Given the description of an element on the screen output the (x, y) to click on. 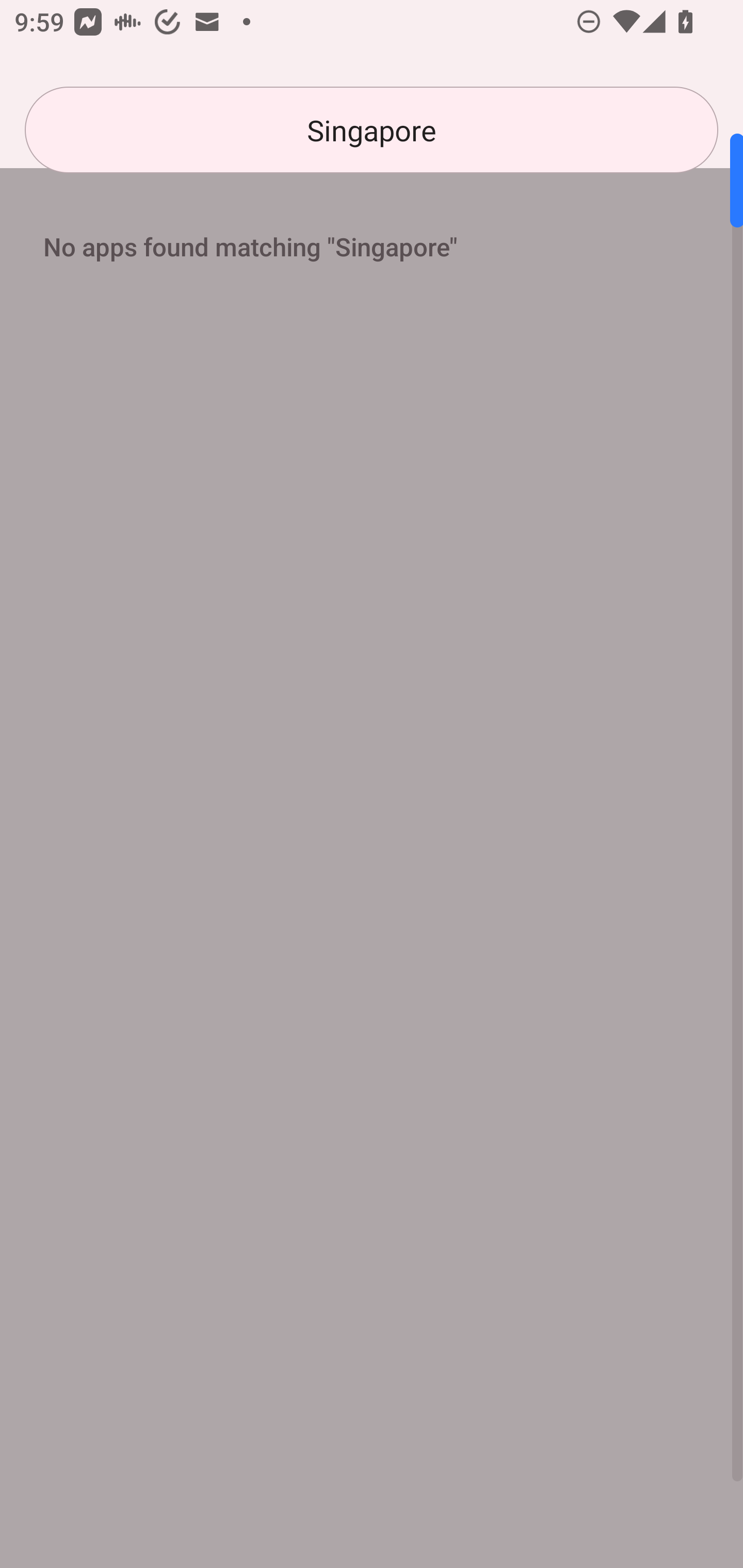
Singapore (371, 130)
